Given the description of an element on the screen output the (x, y) to click on. 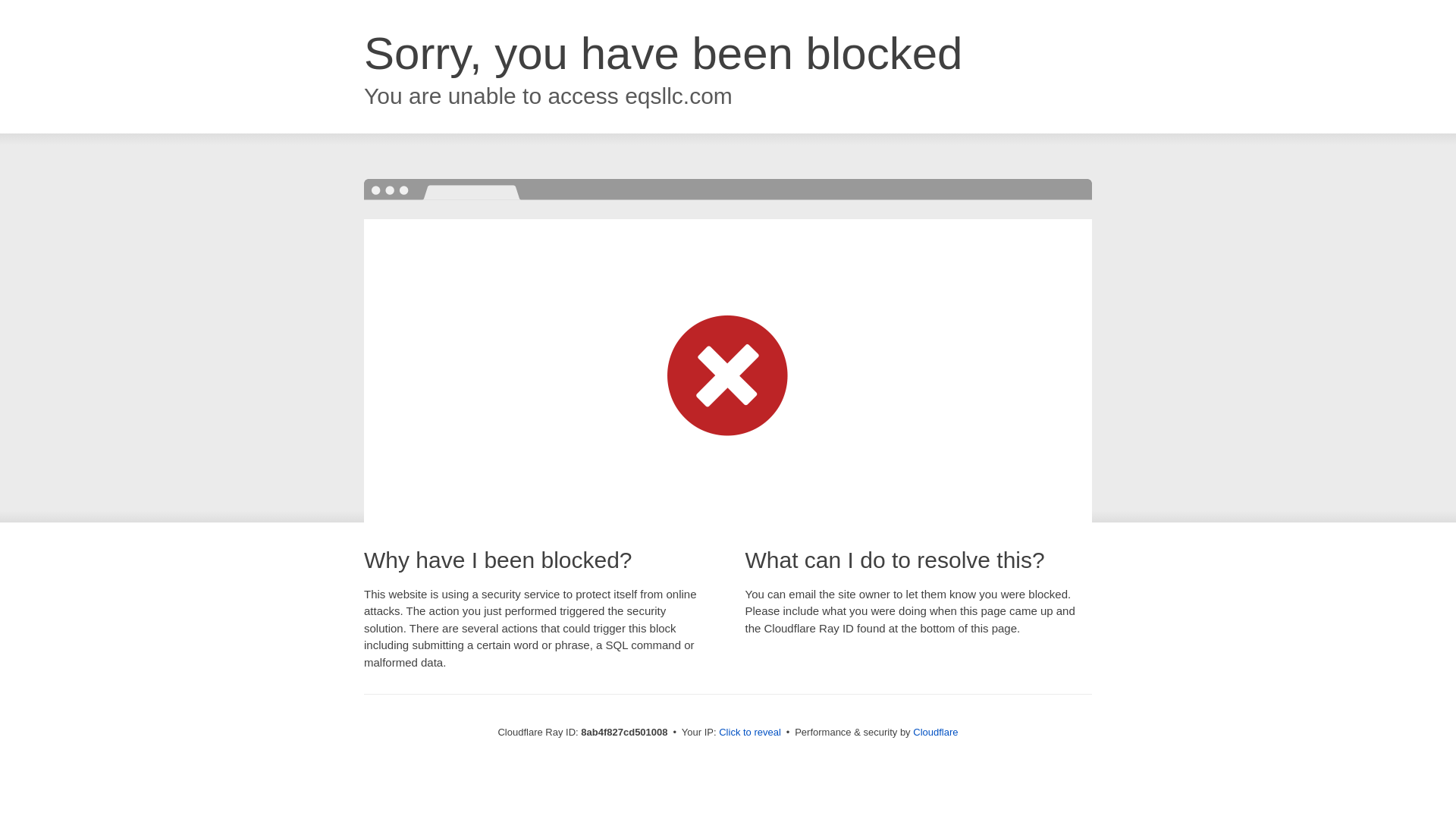
Cloudflare (935, 731)
Click to reveal (749, 732)
